Given the description of an element on the screen output the (x, y) to click on. 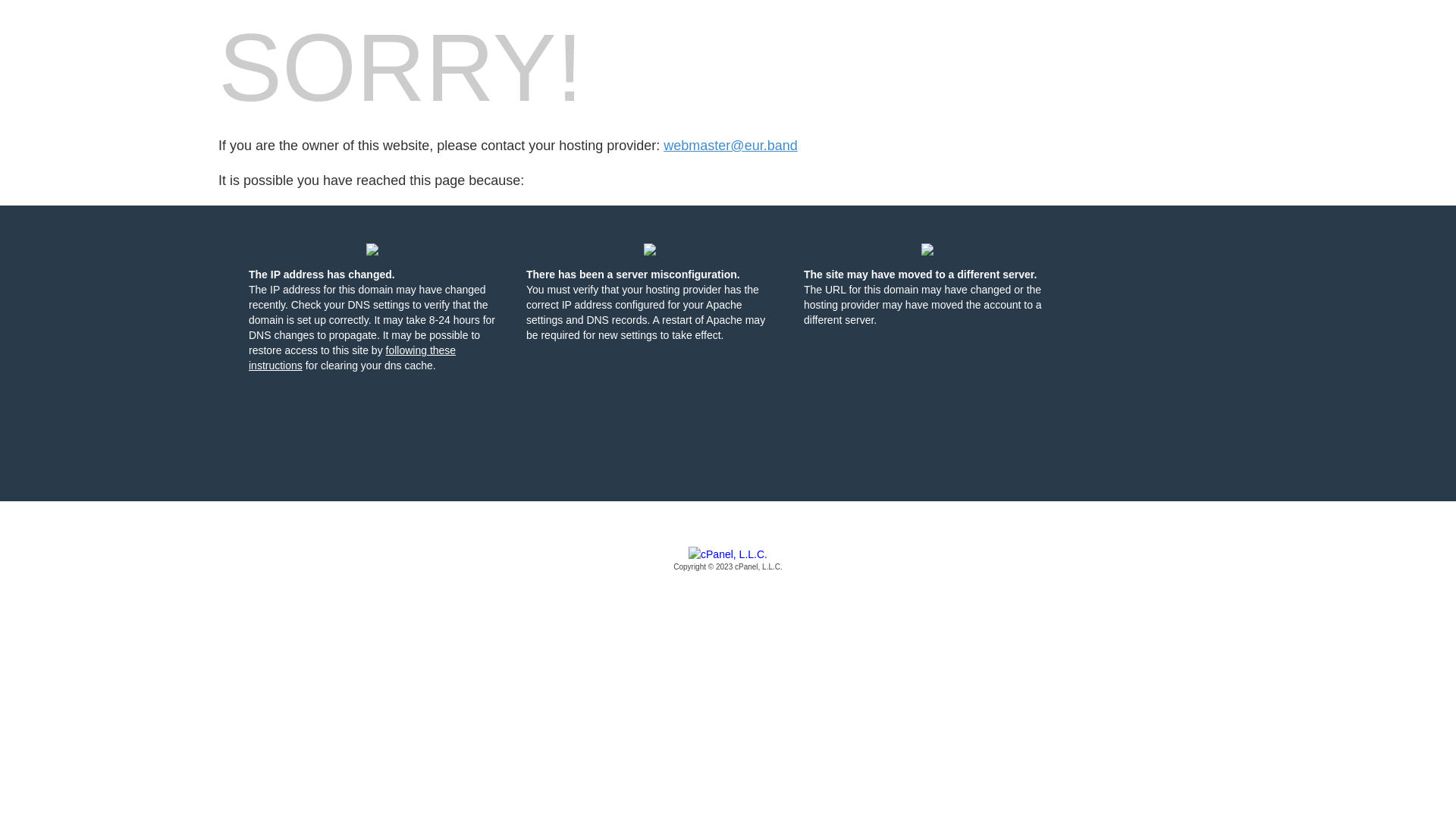
following these instructions Element type: text (351, 357)
webmaster@eur.band Element type: text (730, 145)
